Given the description of an element on the screen output the (x, y) to click on. 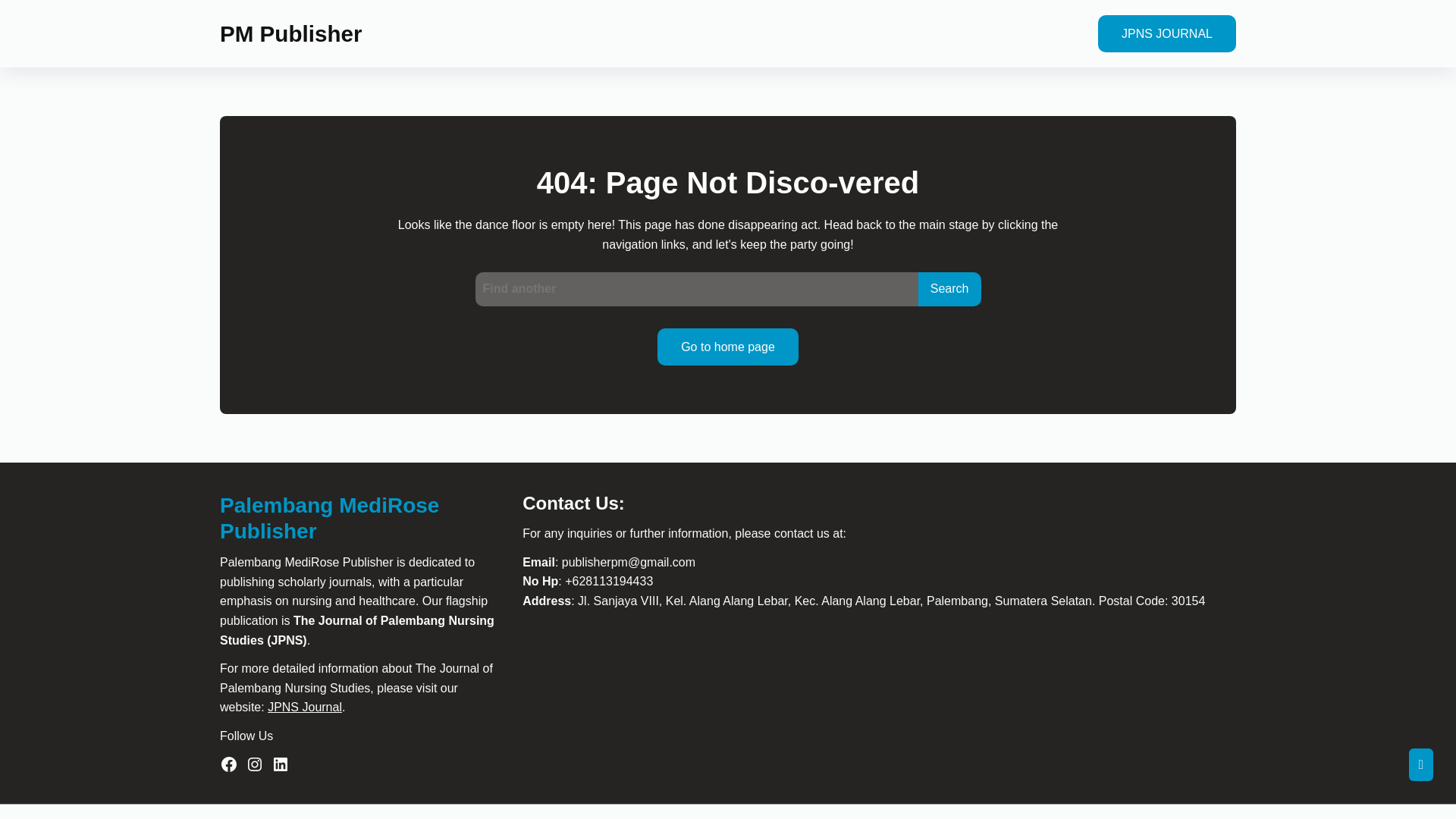
JPNS JOURNAL (1161, 33)
PM Publisher (284, 33)
Go to home page (722, 346)
Search (943, 288)
